Given the description of an element on the screen output the (x, y) to click on. 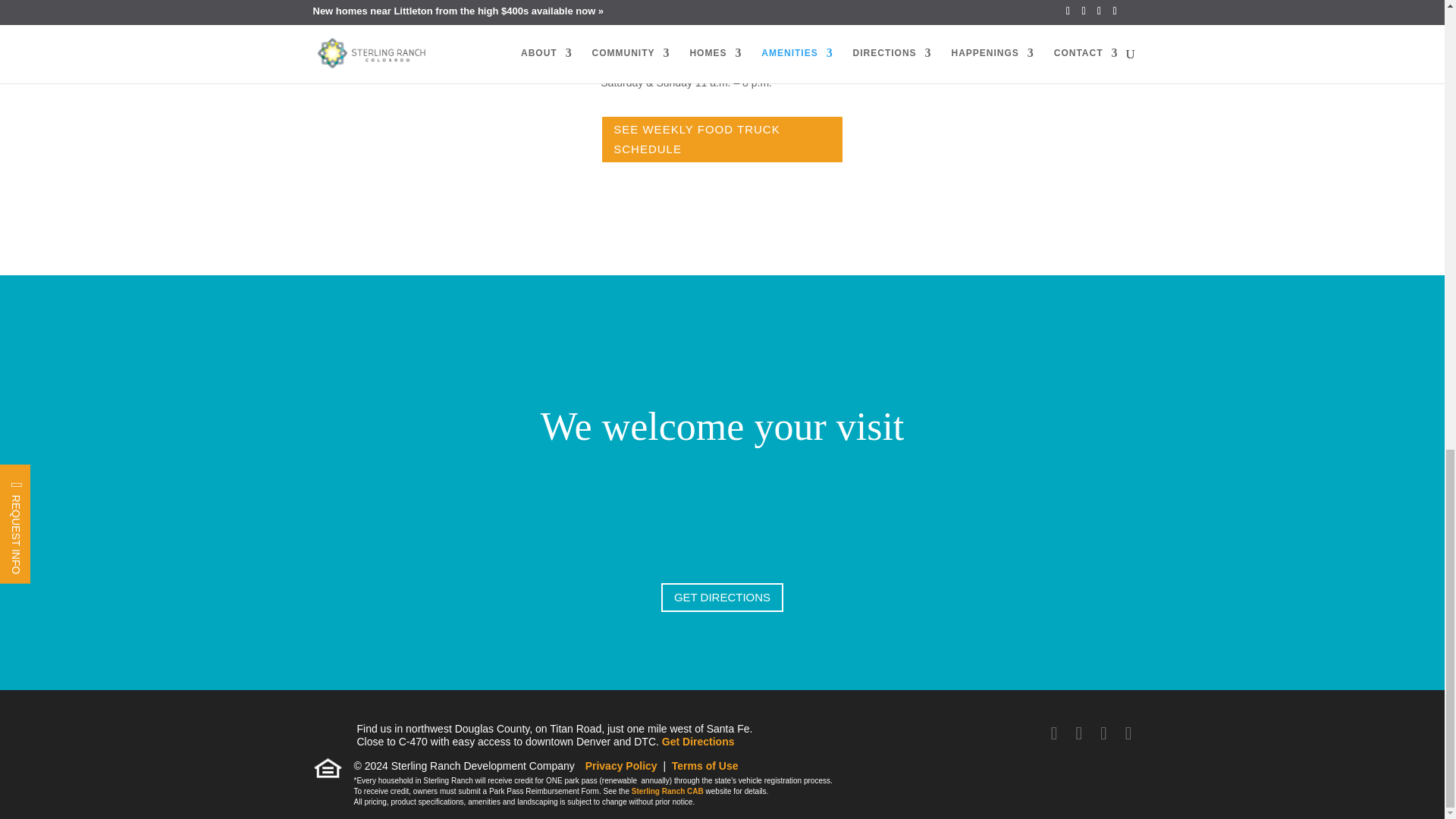
Privacy Policy (621, 766)
directions (698, 741)
Terms of Use (704, 766)
